Given the description of an element on the screen output the (x, y) to click on. 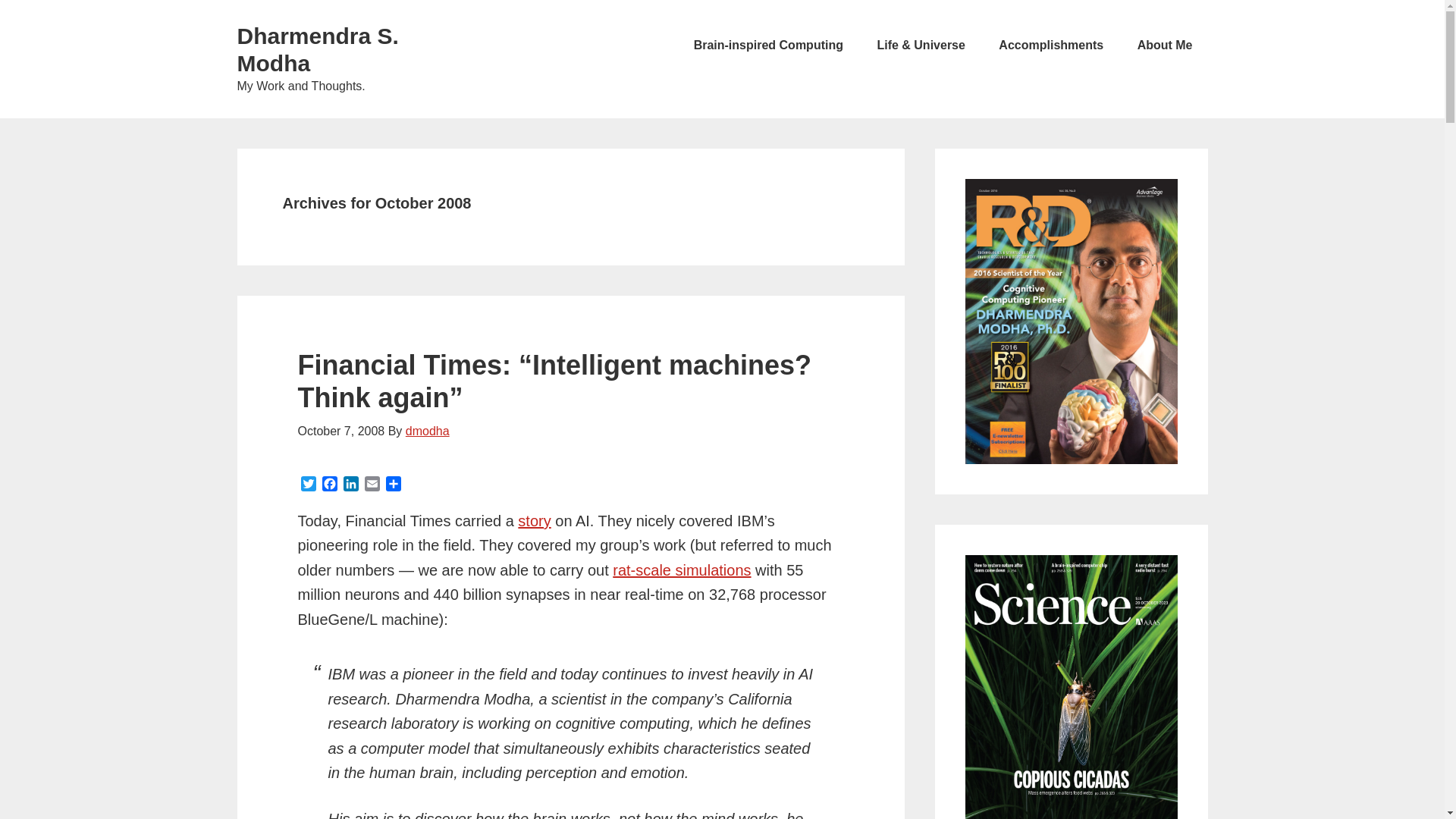
About Me (1165, 45)
Email (371, 485)
Facebook (328, 485)
Email (371, 485)
Twitter (307, 485)
Share (392, 485)
Financial Times (534, 520)
Accomplishments (1051, 45)
Facebook (328, 485)
story (534, 520)
dmodha (427, 431)
rat-scale simulations (681, 569)
Brain-inspired Computing (768, 45)
Dharmendra S. Modha (316, 49)
